Given the description of an element on the screen output the (x, y) to click on. 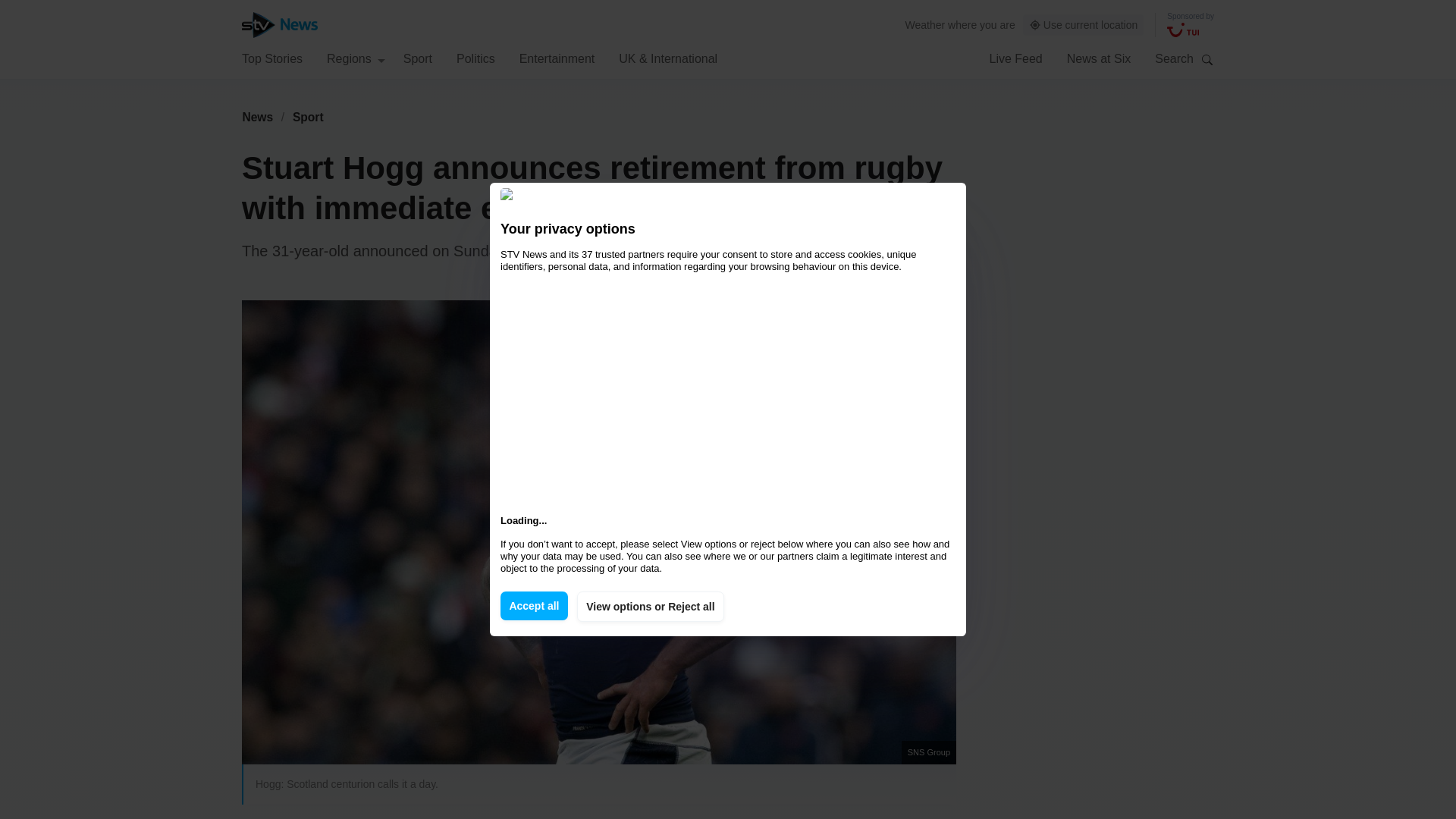
Entertainment (557, 57)
Regions (355, 57)
Use current location (1083, 25)
Top Stories (271, 57)
News at Six (1099, 57)
Live Feed (1015, 57)
News (257, 116)
Search (1206, 59)
Weather (924, 24)
Politics (476, 57)
Sport (308, 116)
